Given the description of an element on the screen output the (x, y) to click on. 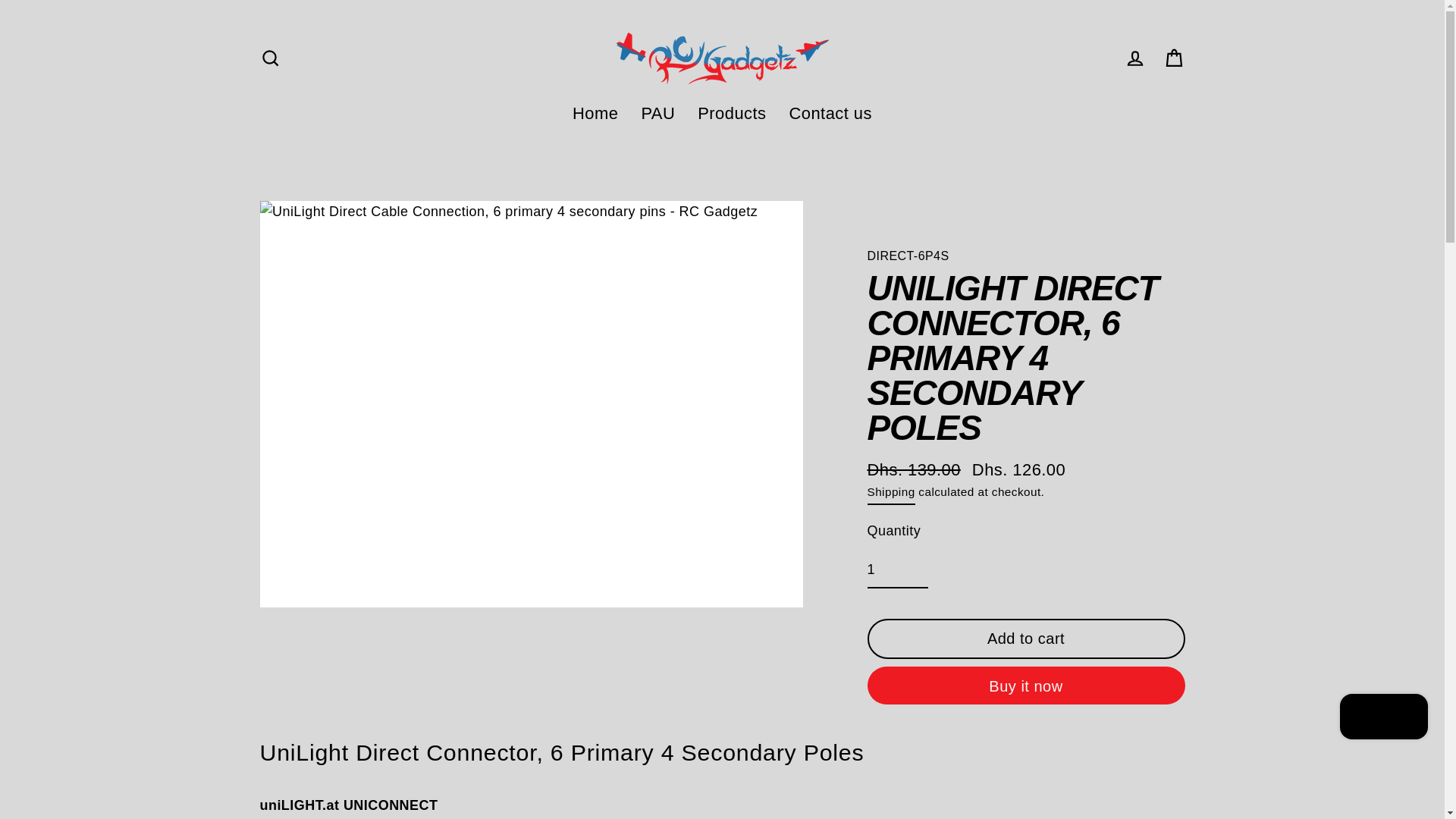
1 (897, 570)
Shopify online store chat (1383, 717)
